Given the description of an element on the screen output the (x, y) to click on. 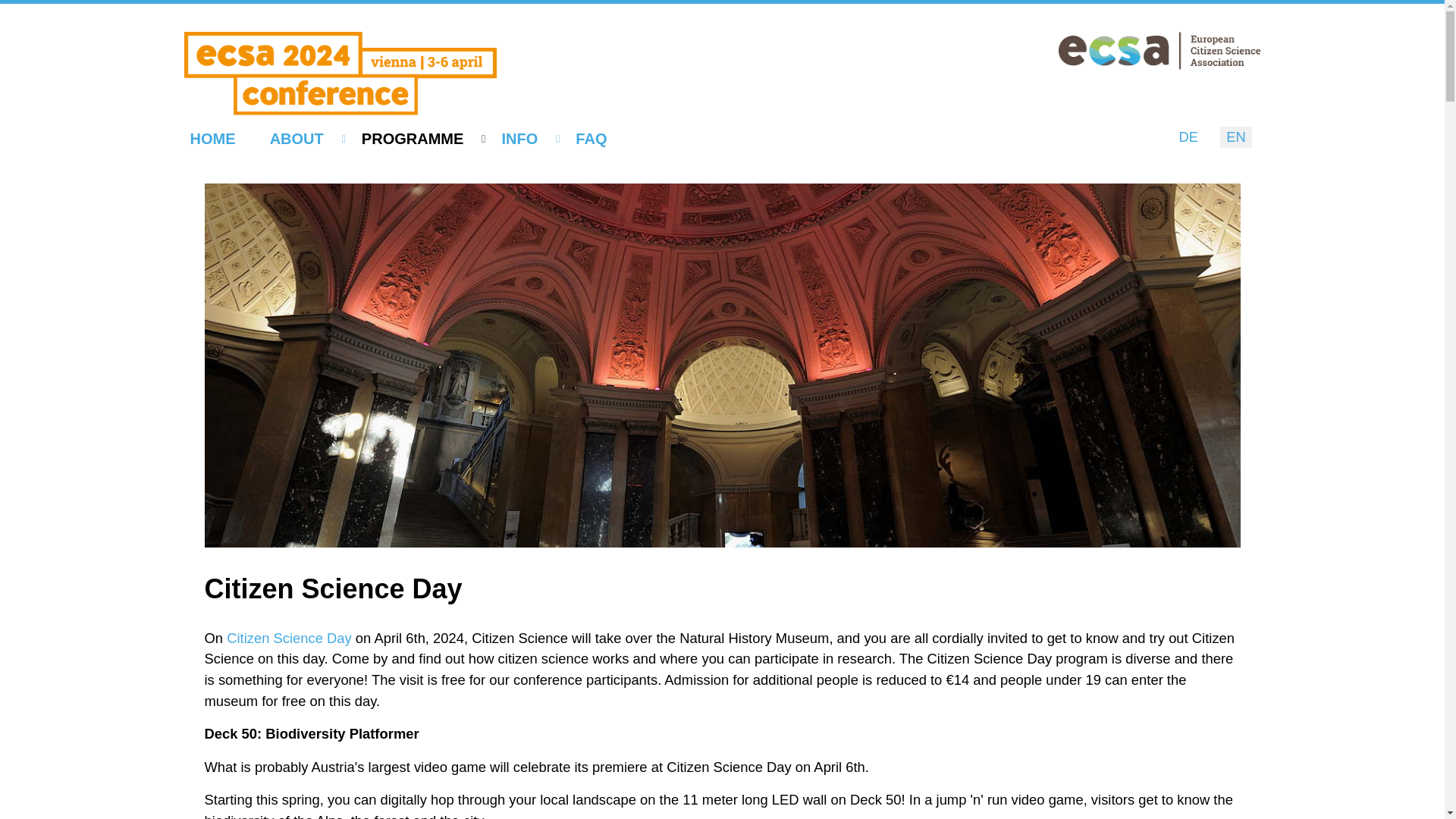
ABOUT (307, 138)
PROGRAMME (422, 138)
Citizen Science Day (289, 637)
EN (1236, 136)
FAQ (599, 138)
HOME (221, 138)
DE (1188, 136)
